Given the description of an element on the screen output the (x, y) to click on. 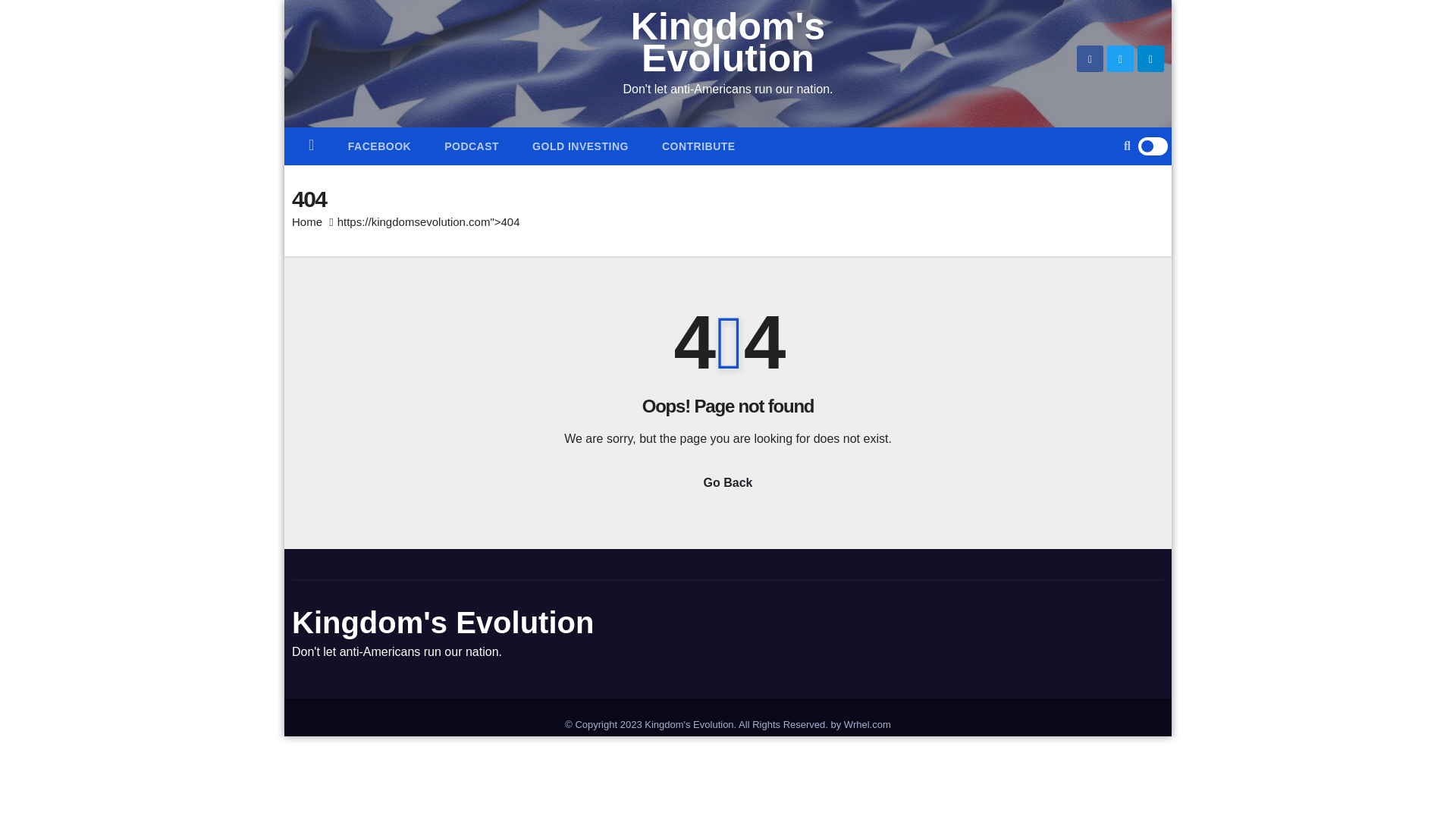
Home (306, 221)
Gold Investing (580, 146)
Kingdom's Evolution (727, 41)
Go Back (727, 482)
CONTRIBUTE (698, 146)
PODCAST (471, 146)
Facebook (379, 146)
CONTRIBUTE (698, 146)
Kingdom's Evolution (443, 622)
FACEBOOK (379, 146)
GOLD INVESTING (580, 146)
PODCAST (471, 146)
Home (311, 146)
